Given the description of an element on the screen output the (x, y) to click on. 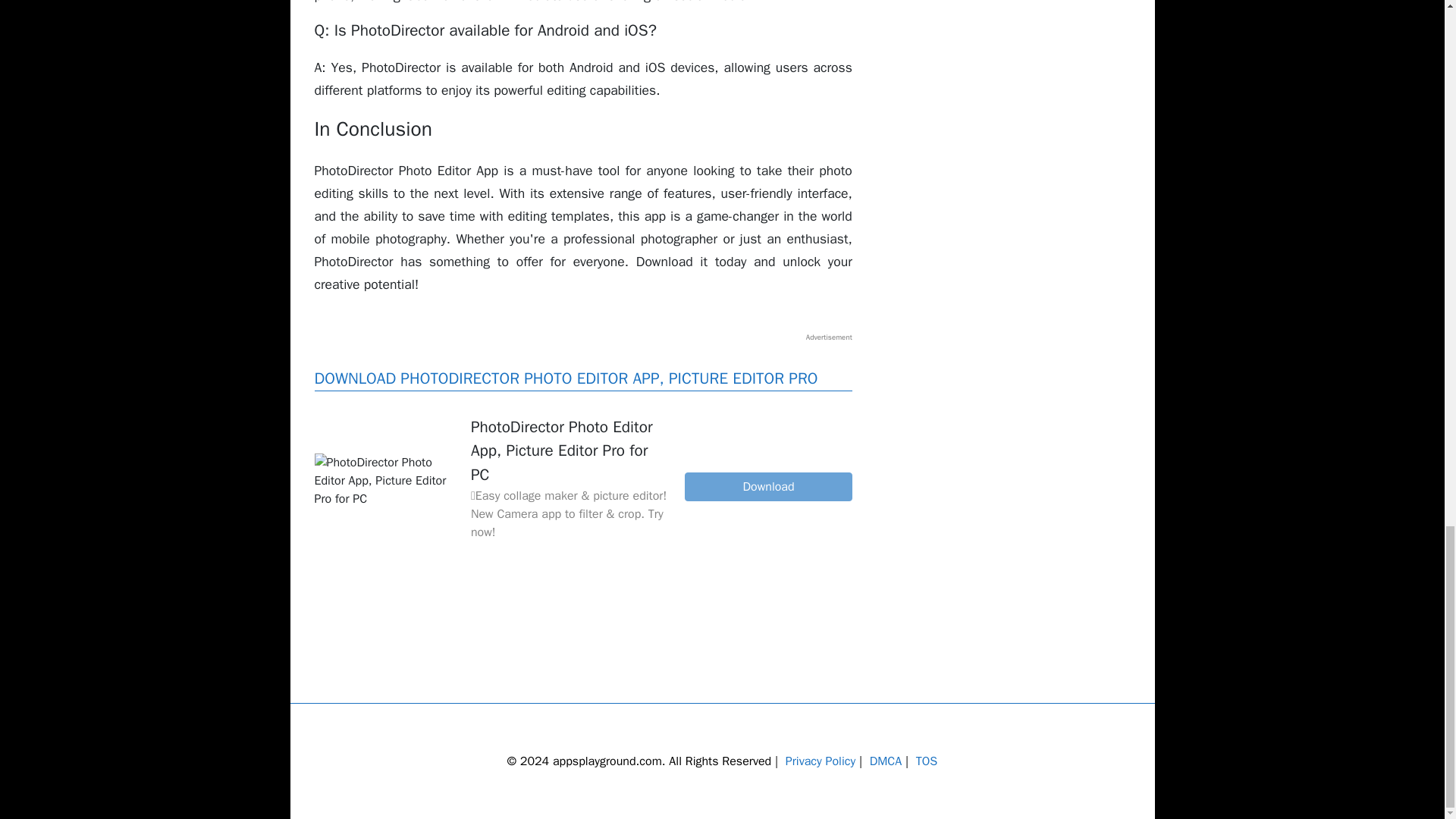
PhotoDirector Photo Editor App, Picture Editor Pro for PC (386, 480)
TOS (926, 761)
Privacy Policy (821, 761)
DMCA (885, 761)
Download (767, 486)
PhotoDirector Photo Editor App, Picture Editor Pro (767, 486)
